Given the description of an element on the screen output the (x, y) to click on. 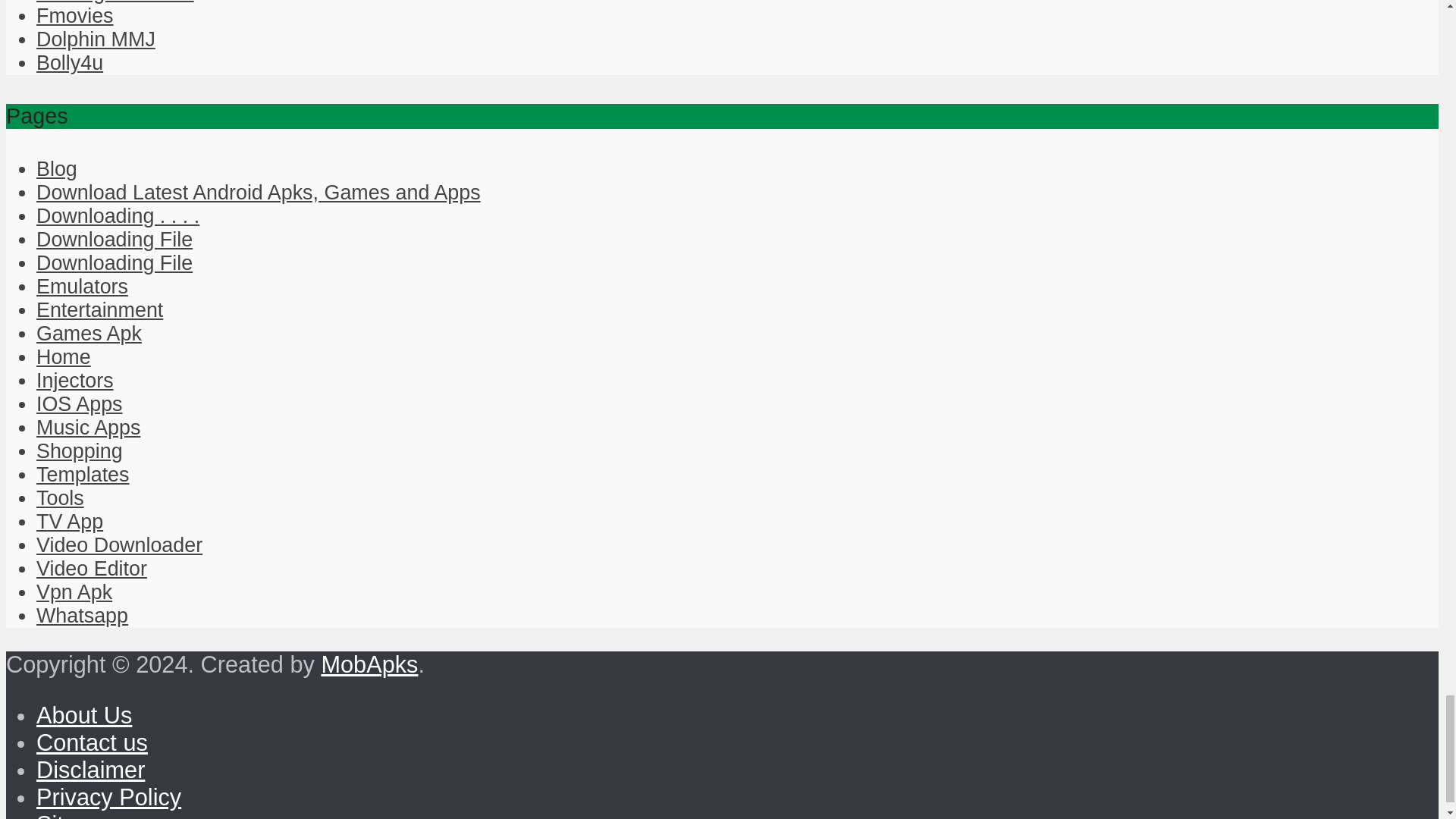
Downloading File (114, 262)
Downloading File (114, 239)
Blog (56, 169)
Fmovies (74, 15)
Download Latest Android Apks, Games and Apps (258, 191)
Bolly4u (69, 62)
Downloading . . . . (117, 215)
Dolphin MMJ (95, 38)
TradingView Mod (114, 2)
